Given the description of an element on the screen output the (x, y) to click on. 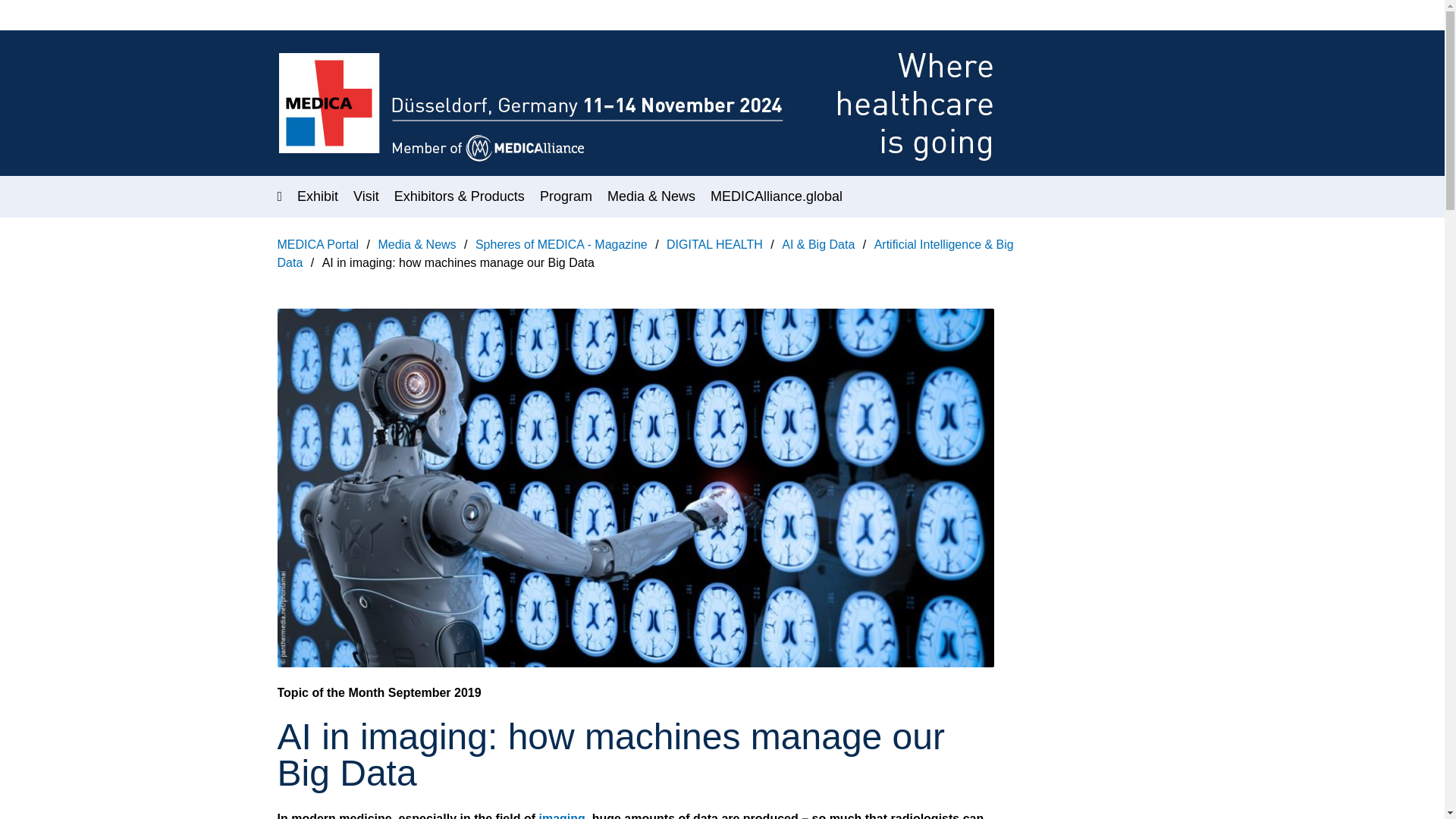
Exhibit (317, 196)
Exhibit (317, 196)
Visit (365, 196)
